Given the description of an element on the screen output the (x, y) to click on. 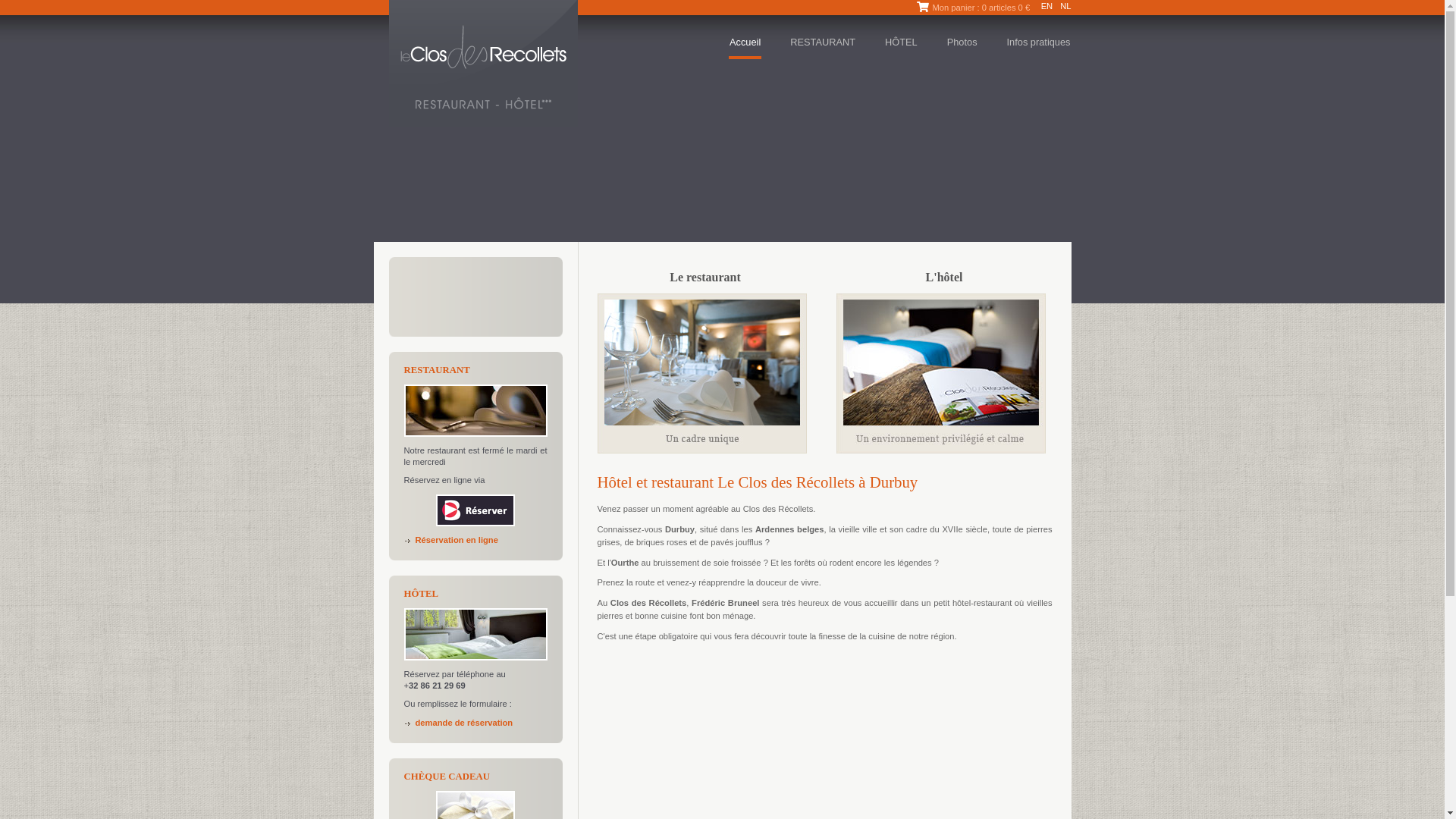
Infos pratiques Element type: text (1038, 47)
NL Element type: text (1065, 5)
RESTAURANT Element type: text (822, 47)
Photos Element type: text (962, 47)
EN Element type: text (1047, 5)
Accueil Element type: text (744, 47)
